Given the description of an element on the screen output the (x, y) to click on. 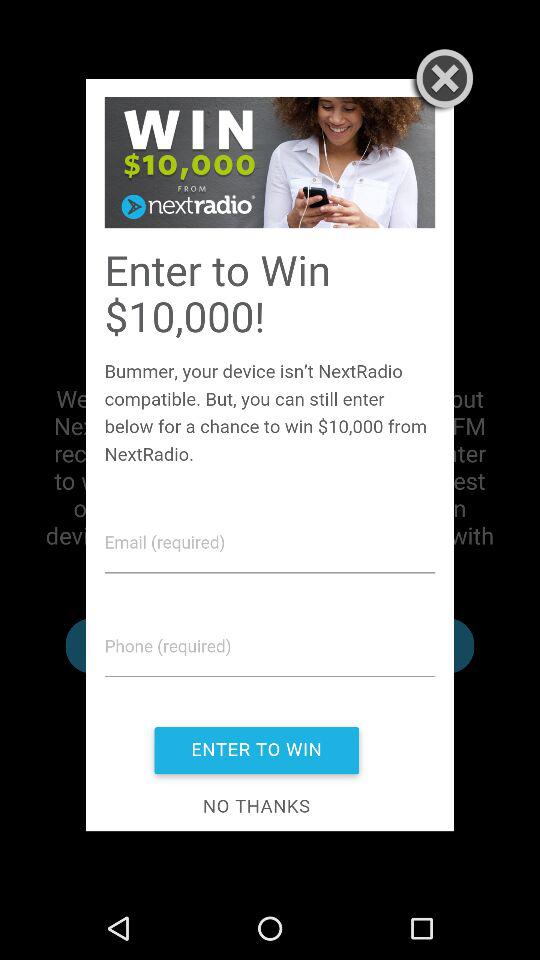
go to cose (440, 81)
